Given the description of an element on the screen output the (x, y) to click on. 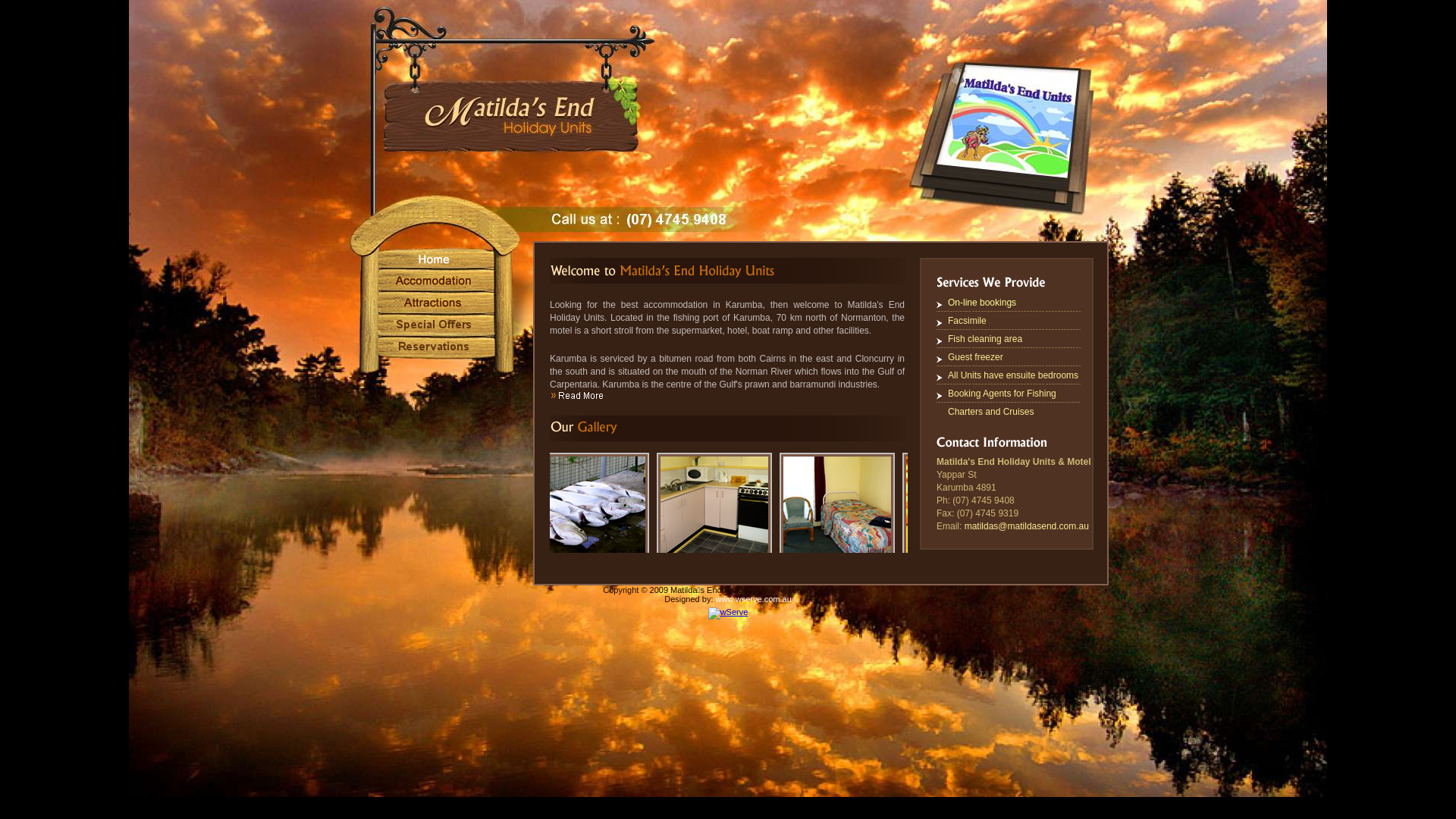
www.wserve.com.au Element type: text (753, 598)
matildas@matildasend.com.au Element type: text (1026, 525)
On-line bookings Element type: text (981, 302)
